Given the description of an element on the screen output the (x, y) to click on. 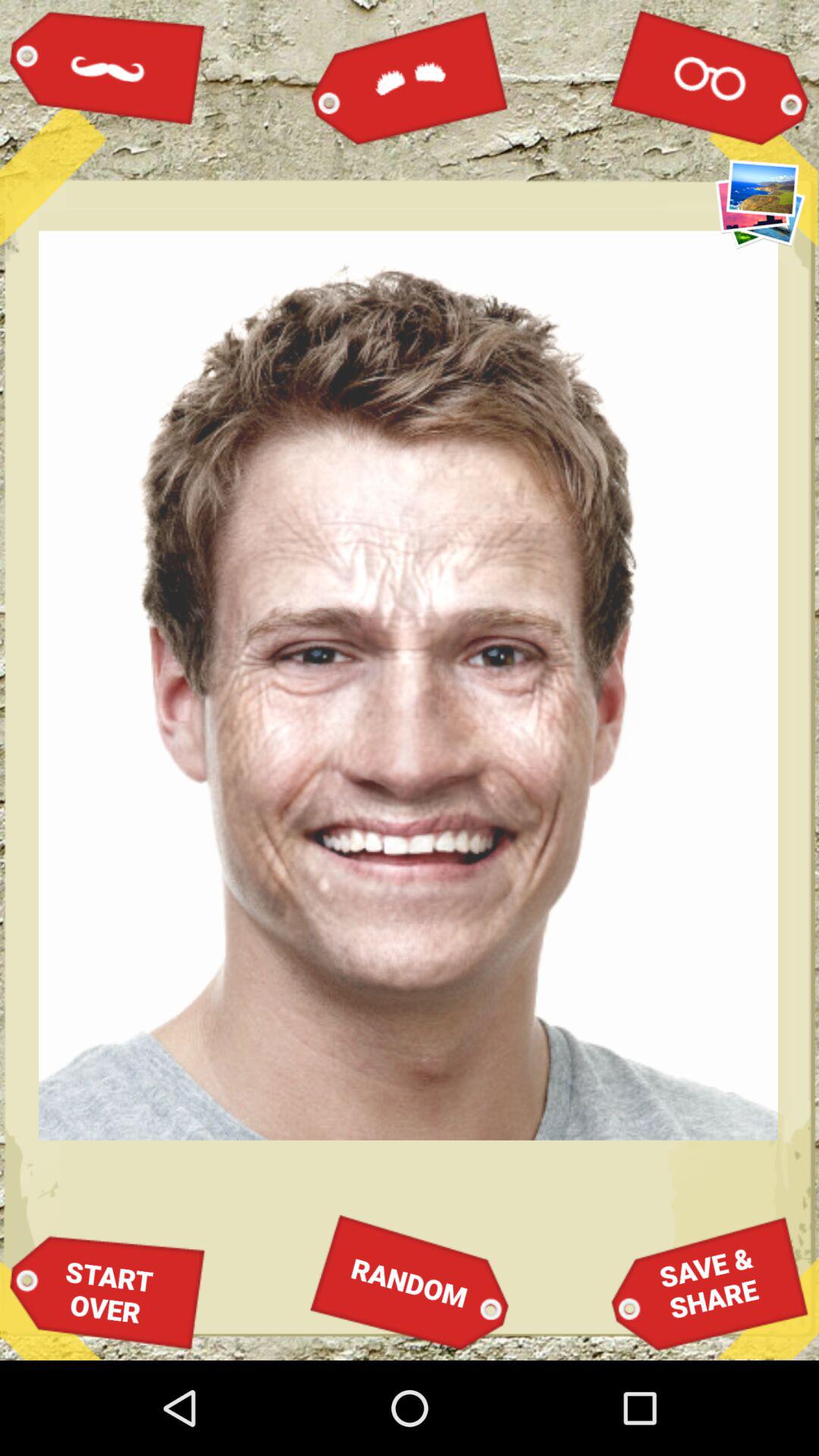
turn off the icon next to random icon (107, 1292)
